Given the description of an element on the screen output the (x, y) to click on. 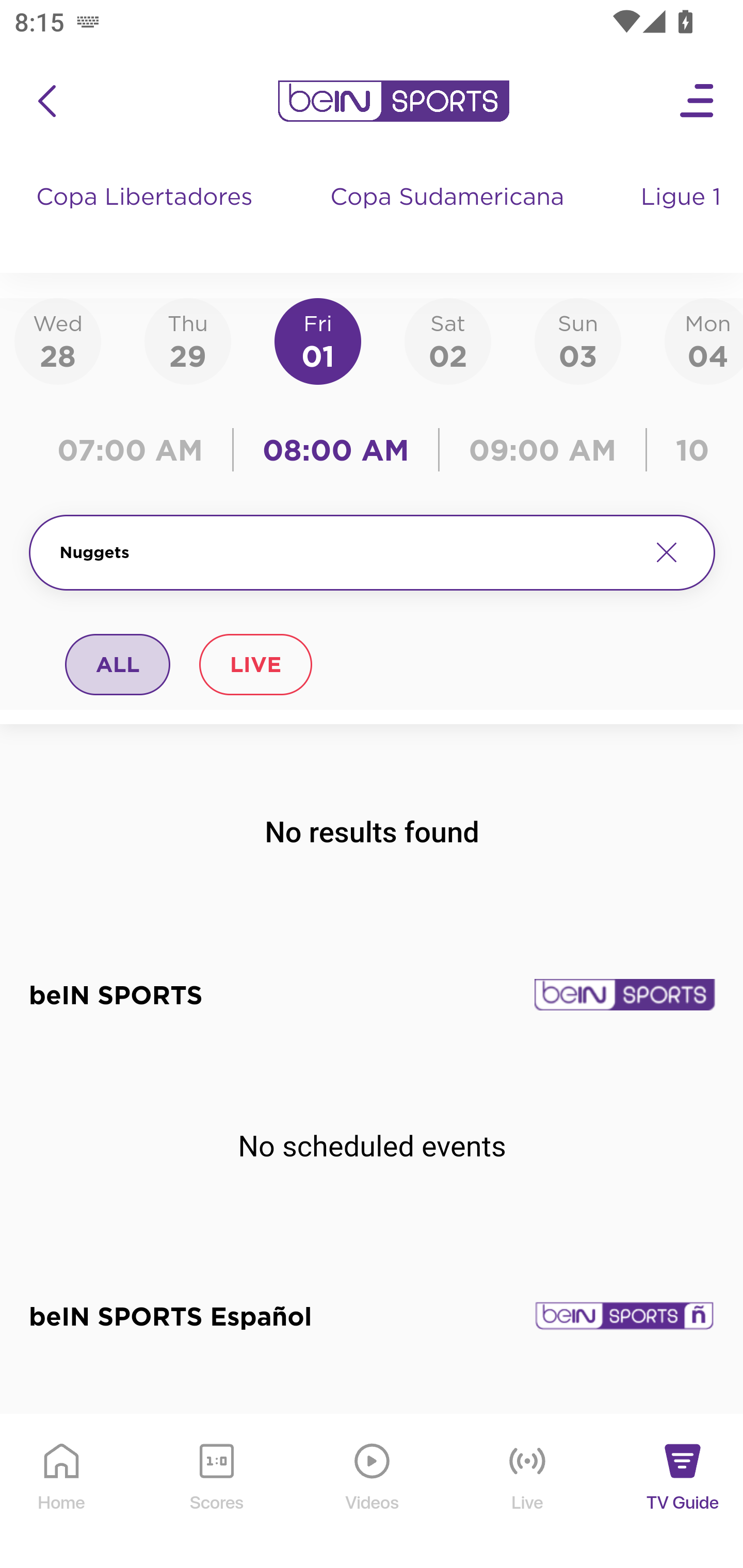
en-us?platform=mobile_android bein logo (392, 101)
icon back (46, 101)
Open Menu Icon (697, 101)
Copa Libertadores (146, 216)
Copa Sudamericana (448, 216)
Ligue 1 (682, 216)
Wed28 (58, 340)
Thu29 (187, 340)
Fri01 (318, 340)
Sat02 (447, 340)
Sun03 (578, 340)
Mon04 (703, 340)
07:00 AM (135, 449)
08:00 AM (336, 449)
09:00 AM (542, 449)
Nuggets (346, 552)
ALL (118, 663)
LIVE (255, 663)
Home Home Icon Home (61, 1491)
Scores Scores Icon Scores (216, 1491)
Videos Videos Icon Videos (372, 1491)
TV Guide TV Guide Icon TV Guide (682, 1491)
